Given the description of an element on the screen output the (x, y) to click on. 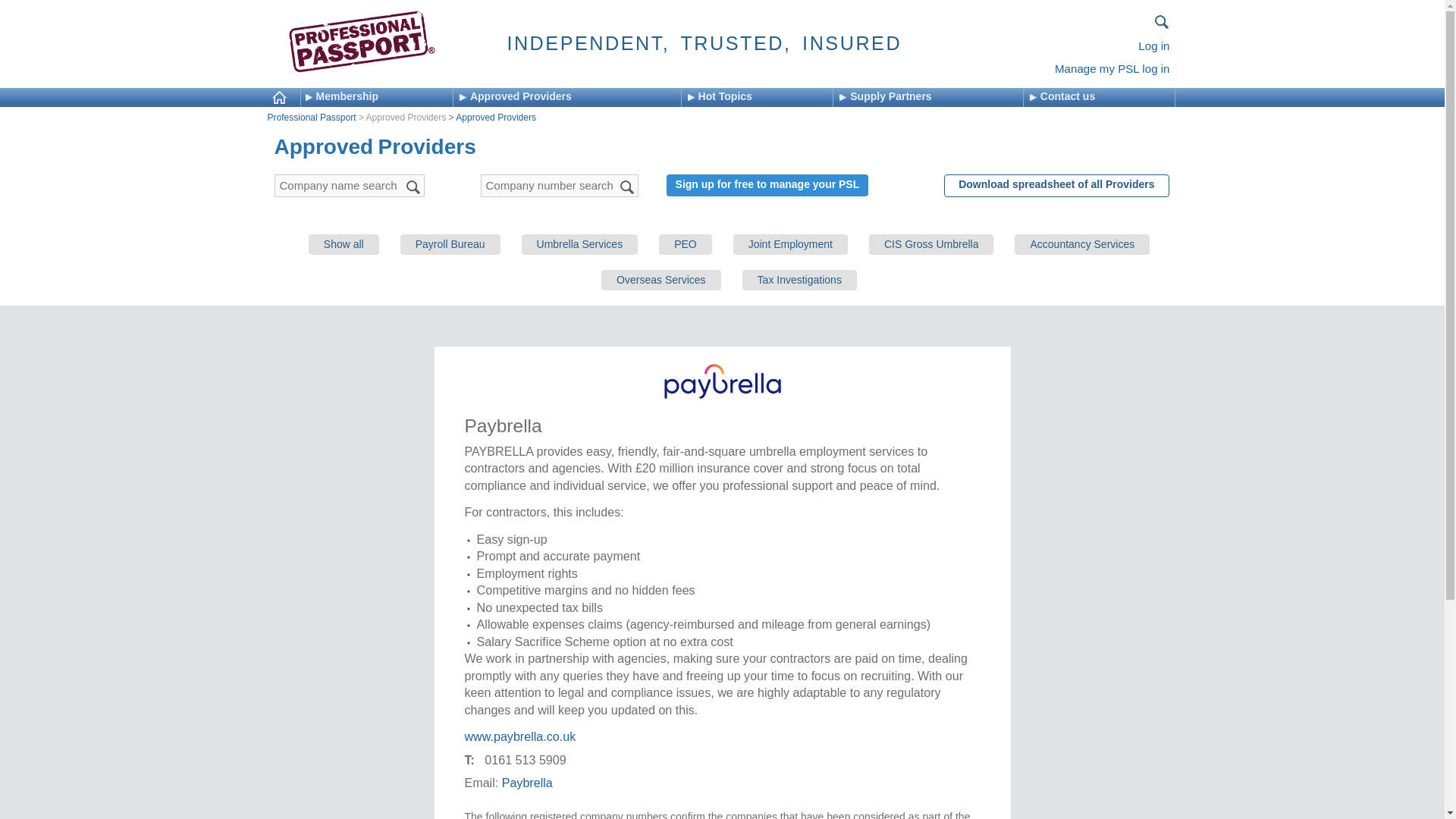
Tax Investigations (799, 280)
Membership (377, 97)
Approved Providers (495, 117)
Payroll Bureau (450, 244)
Show all (343, 244)
Accountancy Services (1082, 244)
Hot Topics (759, 97)
PEO (685, 244)
Log in (1153, 45)
Contact us (1101, 97)
Joint Employment (790, 244)
CIS Gross Umbrella (930, 244)
Sign up for free to manage your PSL (767, 185)
Manage my PSL log in (1111, 68)
Umbrella Services (580, 244)
